Given the description of an element on the screen output the (x, y) to click on. 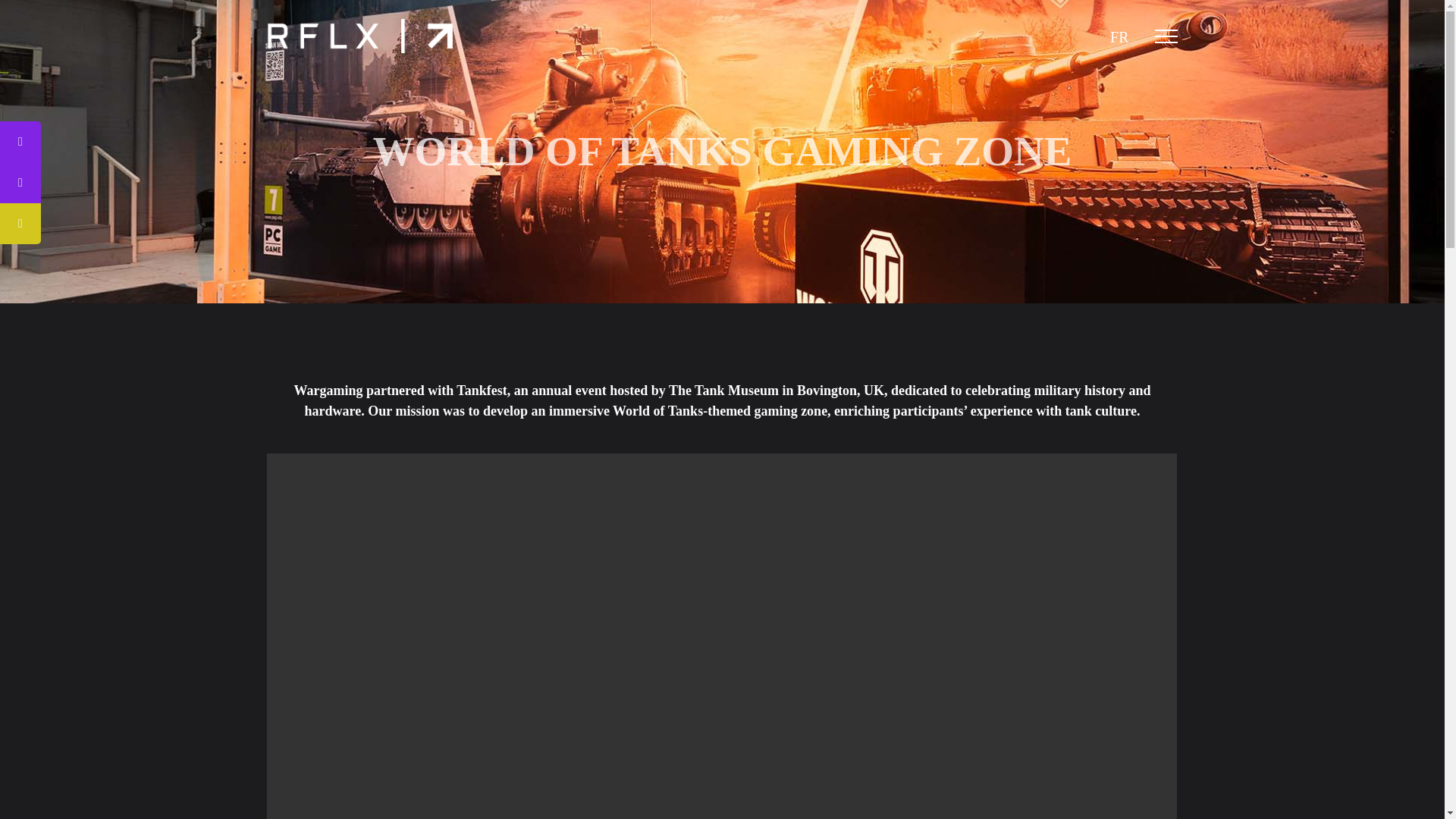
FR (1118, 36)
